Given the description of an element on the screen output the (x, y) to click on. 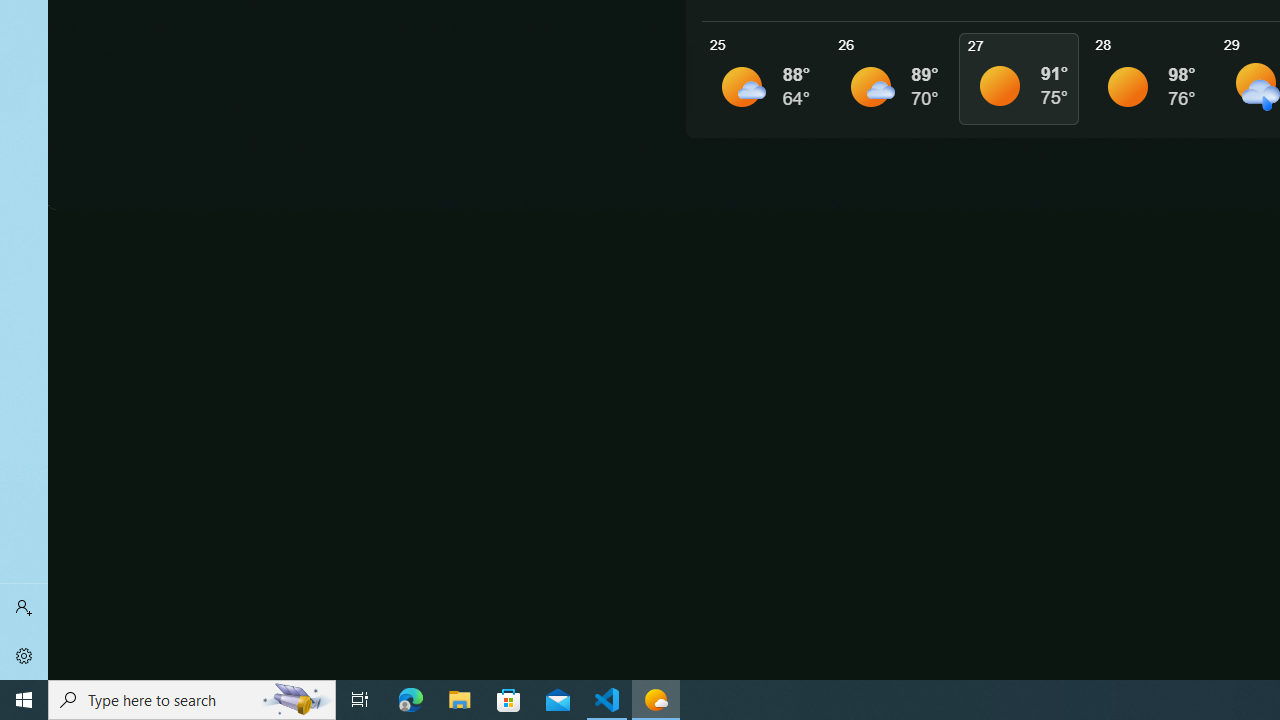
Settings (24, 655)
Sign in (24, 607)
Weather - 1 running window (656, 699)
